Given the description of an element on the screen output the (x, y) to click on. 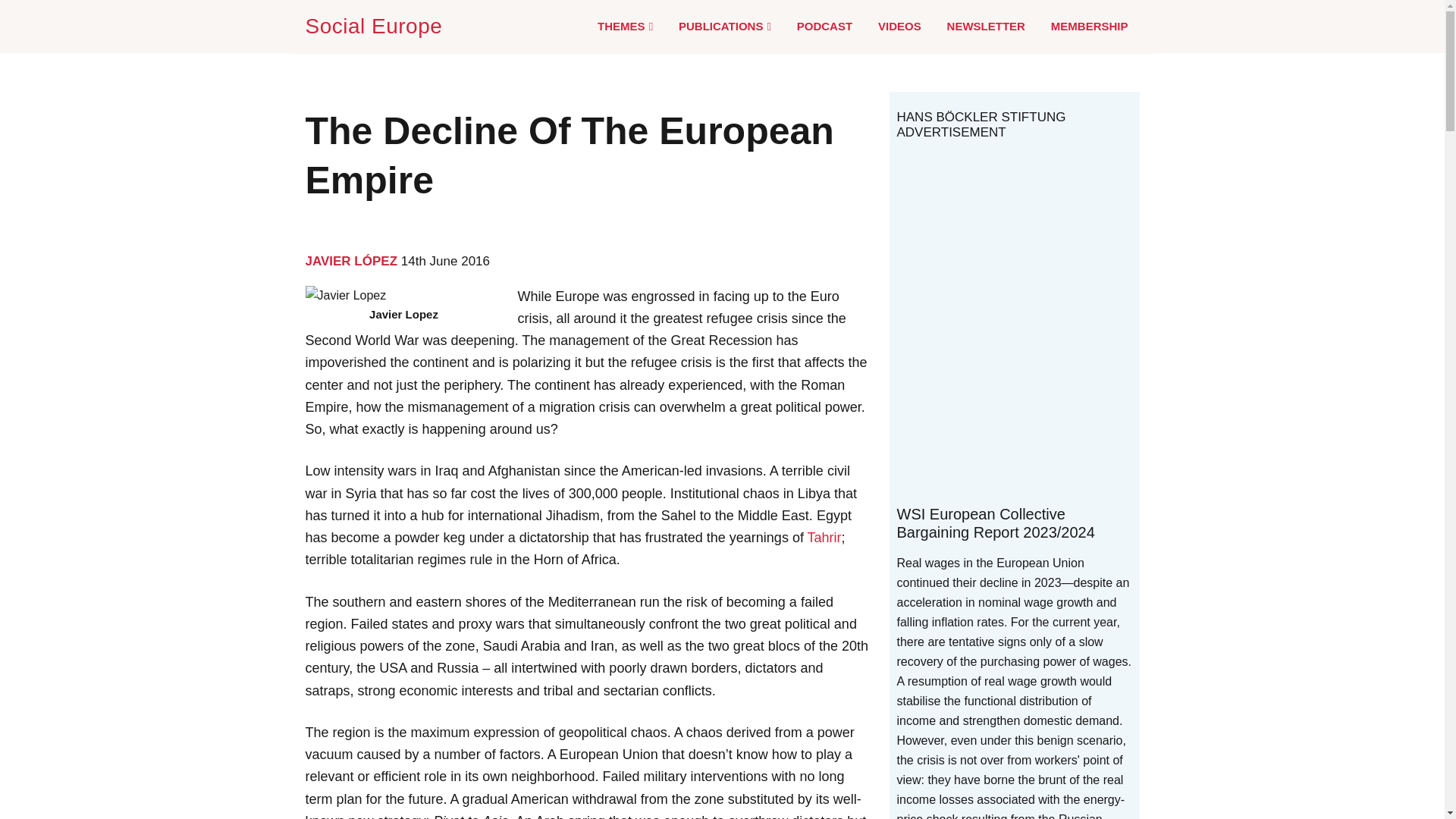
MEMBERSHIP (1089, 25)
Tahrir (824, 537)
VIDEOS (899, 25)
PODCAST (824, 25)
THEMES (624, 26)
NEWSLETTER (986, 25)
PUBLICATIONS (724, 26)
Social Europe (376, 26)
